Given the description of an element on the screen output the (x, y) to click on. 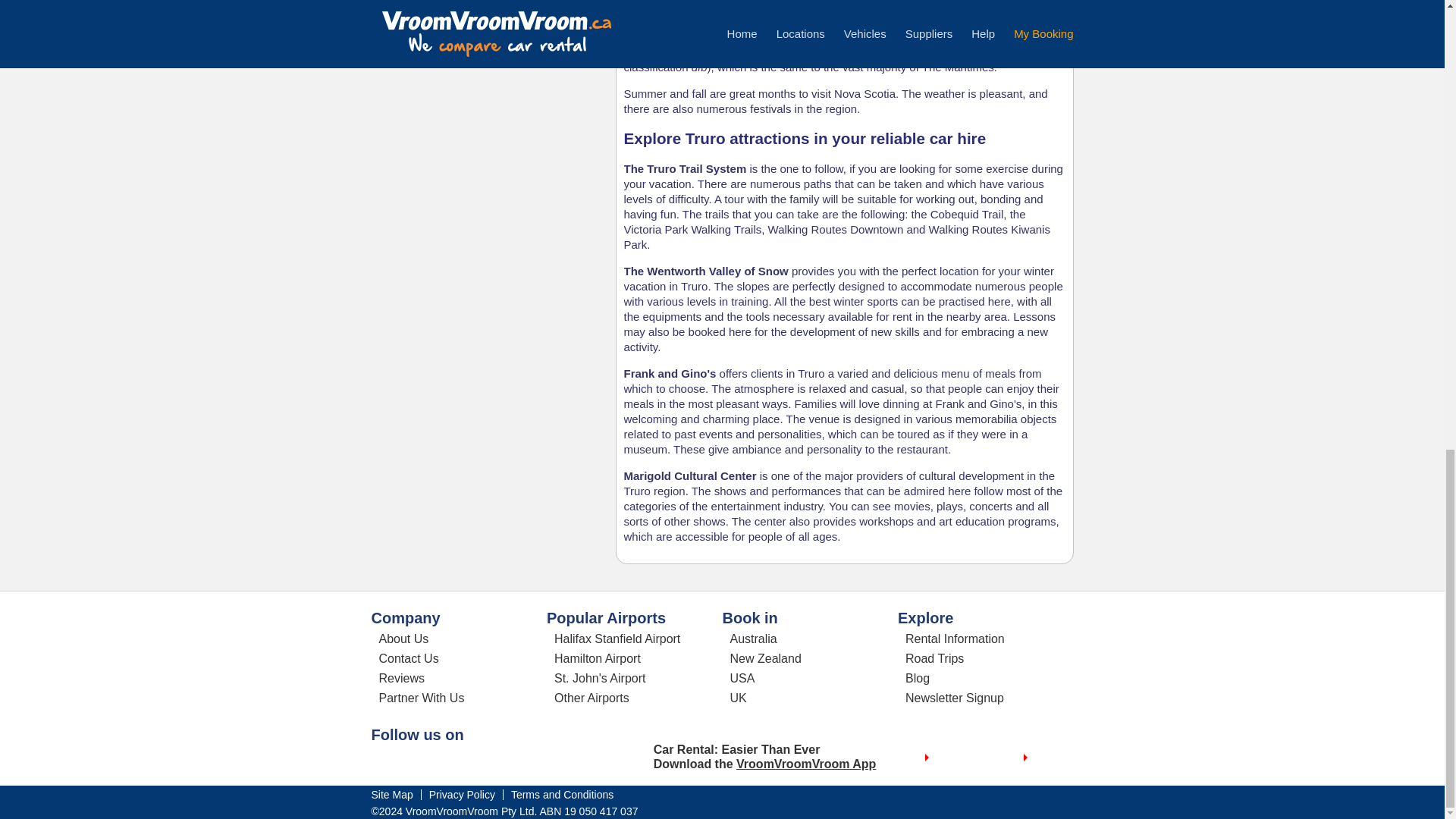
Google App (1027, 758)
Facebook (383, 761)
Linked In (442, 761)
Youtube (471, 761)
Instagram (501, 761)
IOS App (928, 758)
Twitter (412, 761)
